Given the description of an element on the screen output the (x, y) to click on. 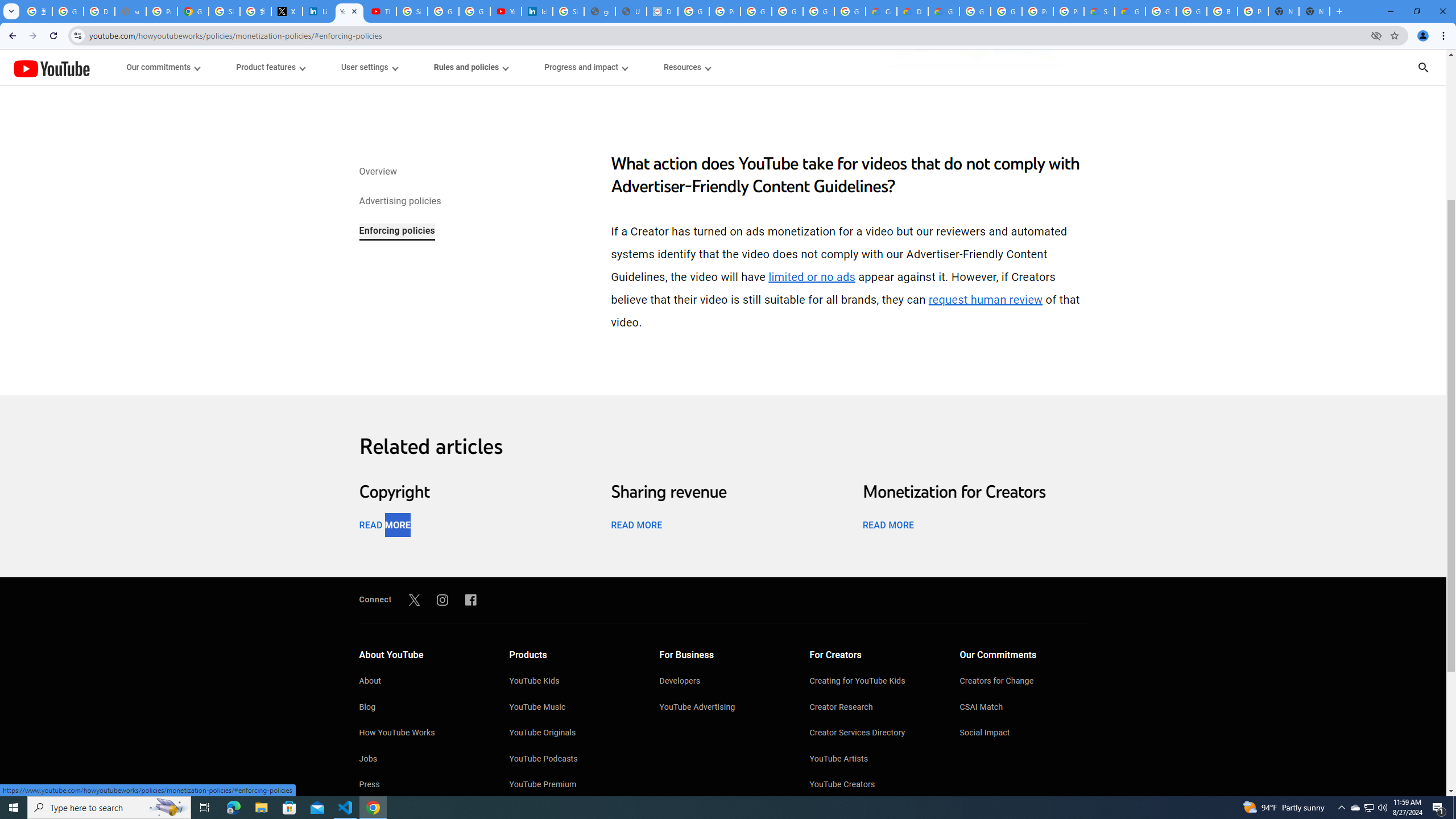
Play (723, 469)
Creator Services Directory (873, 733)
Blog (422, 708)
Google Cloud Platform (1190, 11)
YouTube Kids (573, 682)
LinkedIn Privacy Policy (318, 11)
YouTube Advertising (723, 708)
Facebook (470, 599)
